Given the description of an element on the screen output the (x, y) to click on. 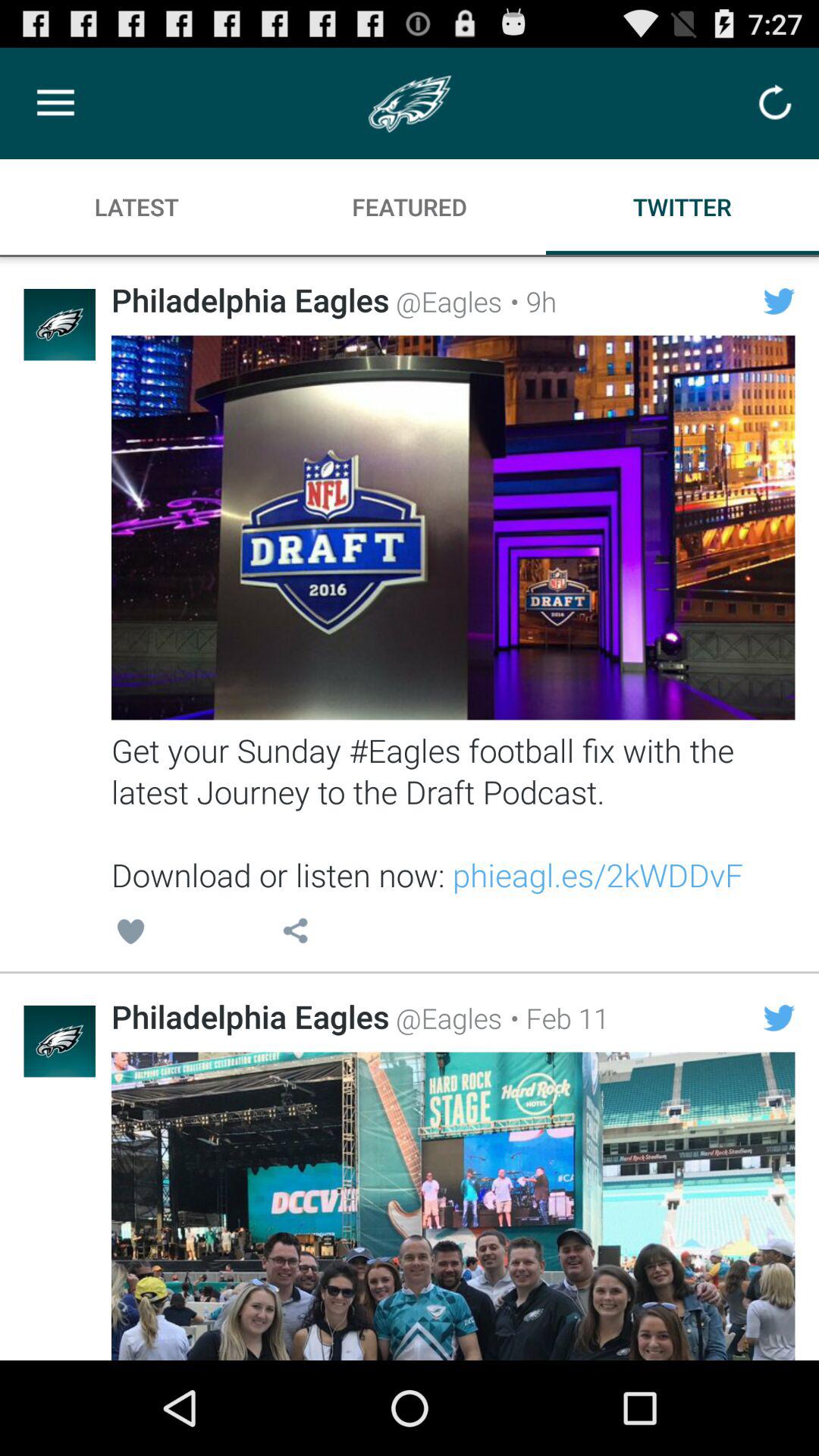
scroll down (453, 1206)
